Given the description of an element on the screen output the (x, y) to click on. 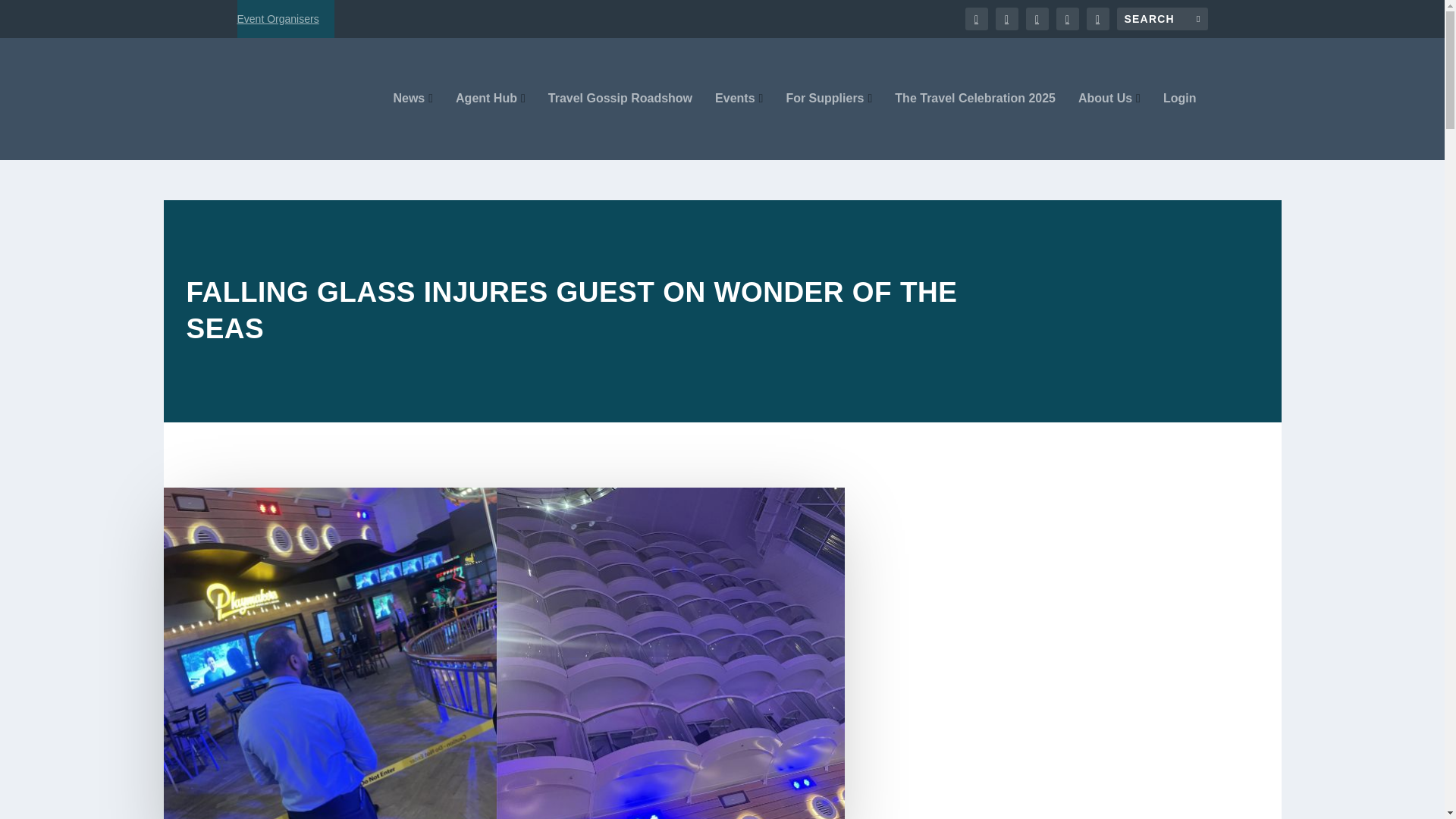
Search for: (1161, 18)
Agent Hub (490, 125)
For Suppliers (829, 125)
Event Organisers (276, 18)
The Travel Celebration 2025 (975, 125)
Travel Gossip Roadshow (620, 125)
About Us (1109, 125)
